Given the description of an element on the screen output the (x, y) to click on. 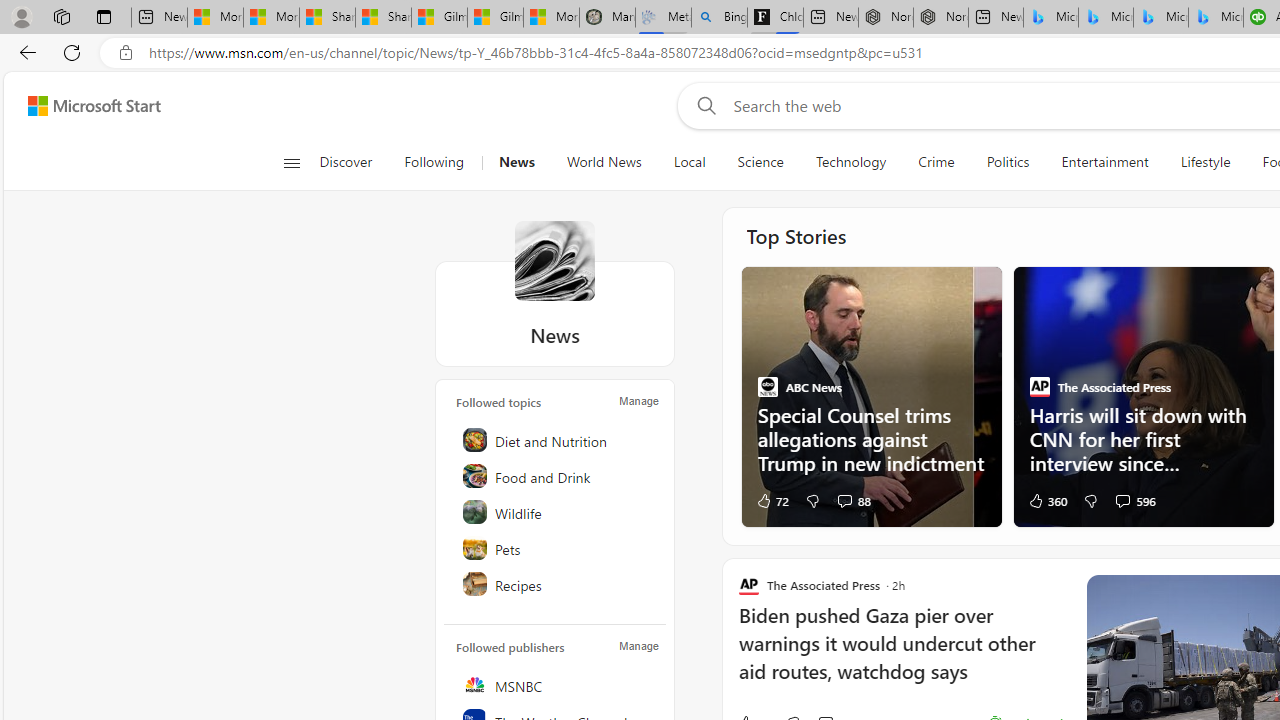
Microsoft Bing Travel - Shangri-La Hotel Bangkok (1215, 17)
Politics (1007, 162)
Wildlife (556, 511)
Entertainment (1105, 162)
View comments 88 Comment (853, 500)
Manage (639, 646)
MSNBC (556, 684)
Lifestyle (1204, 162)
News (516, 162)
